Given the description of an element on the screen output the (x, y) to click on. 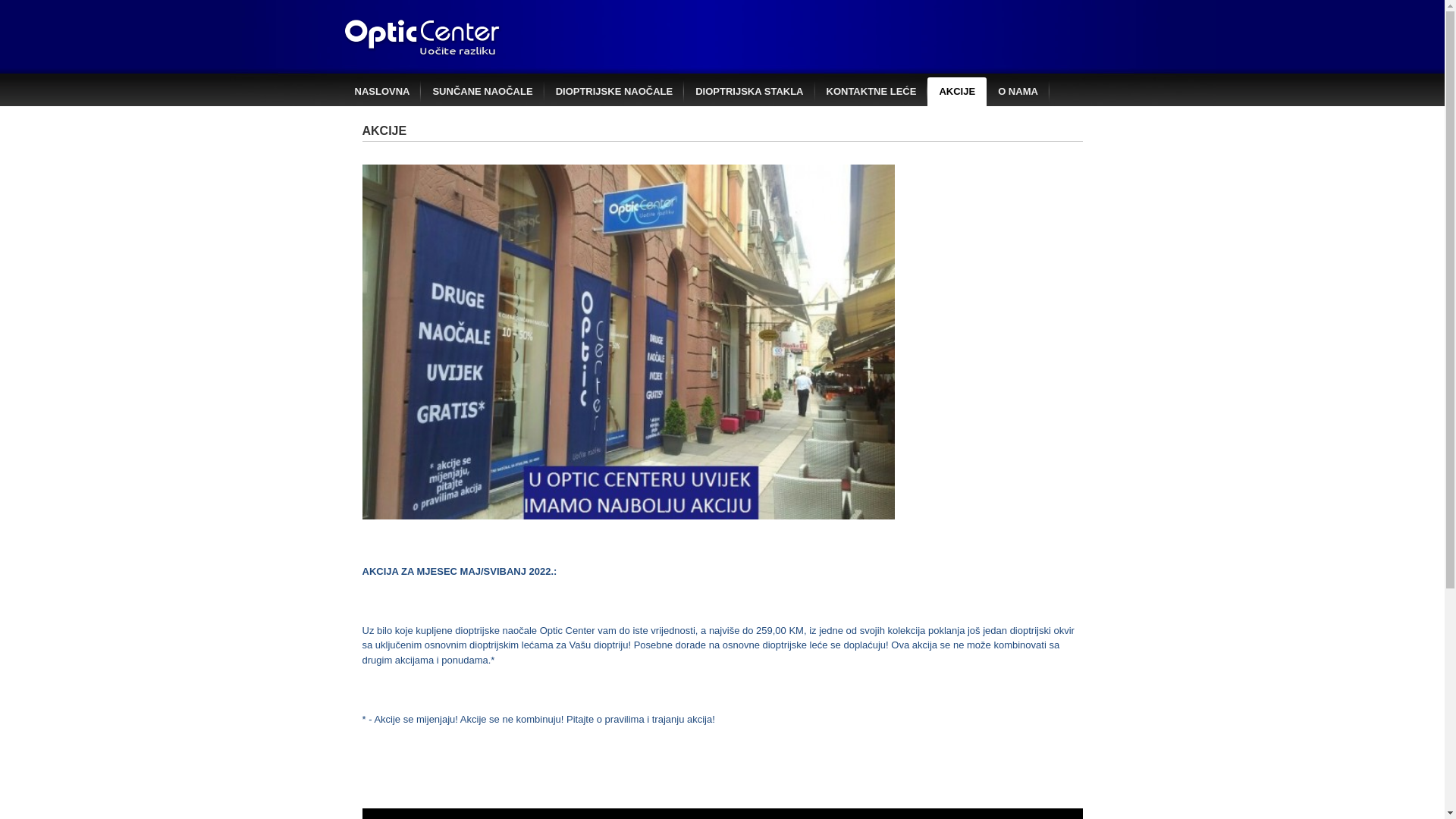
NASLOVNA Element type: text (381, 91)
O NAMA Element type: text (1017, 91)
AKCIJE Element type: text (956, 91)
DIOPTRIJSKA STAKLA Element type: text (749, 91)
